Given the description of an element on the screen output the (x, y) to click on. 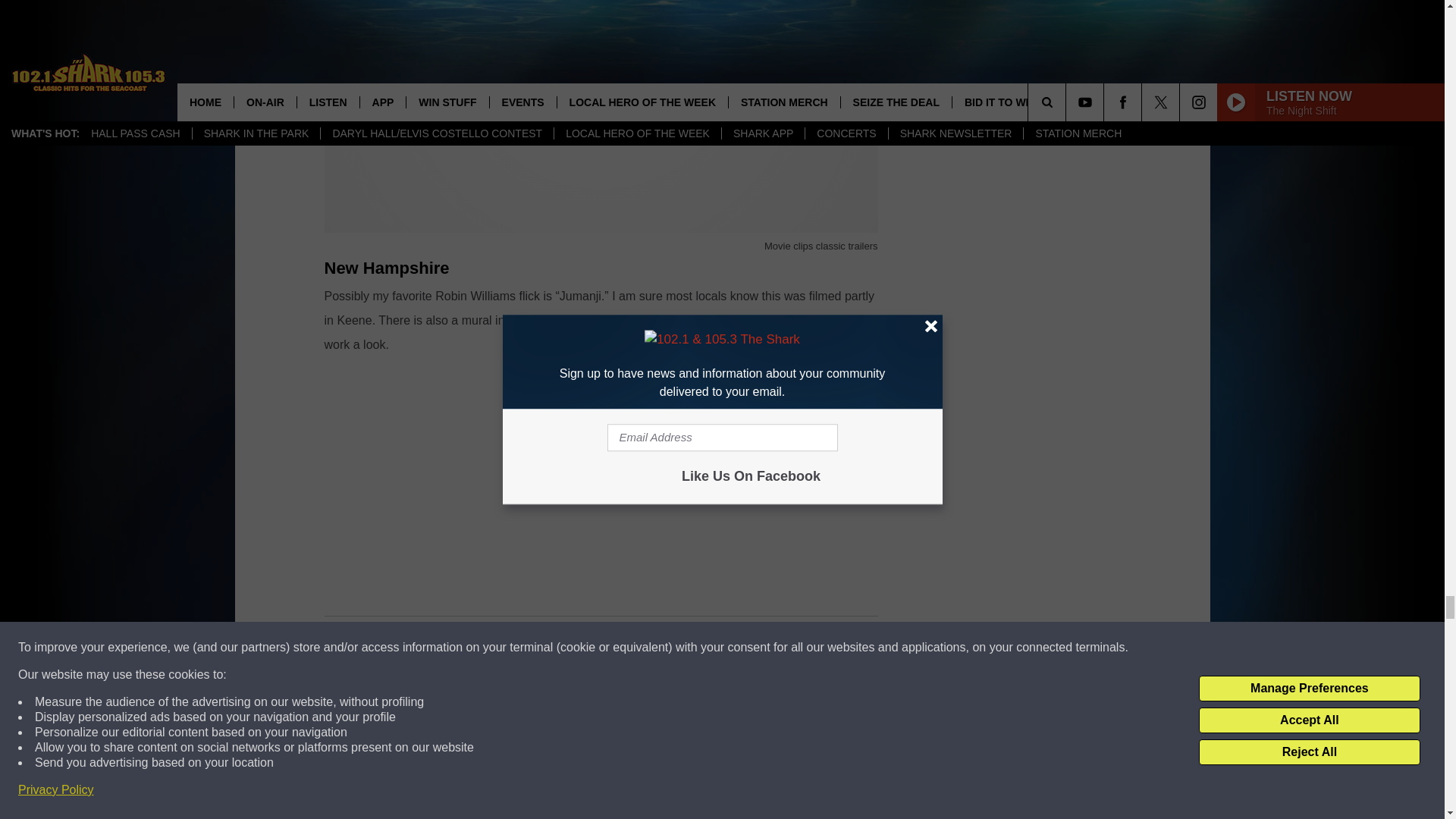
YouTube video player (600, 476)
